Given the description of an element on the screen output the (x, y) to click on. 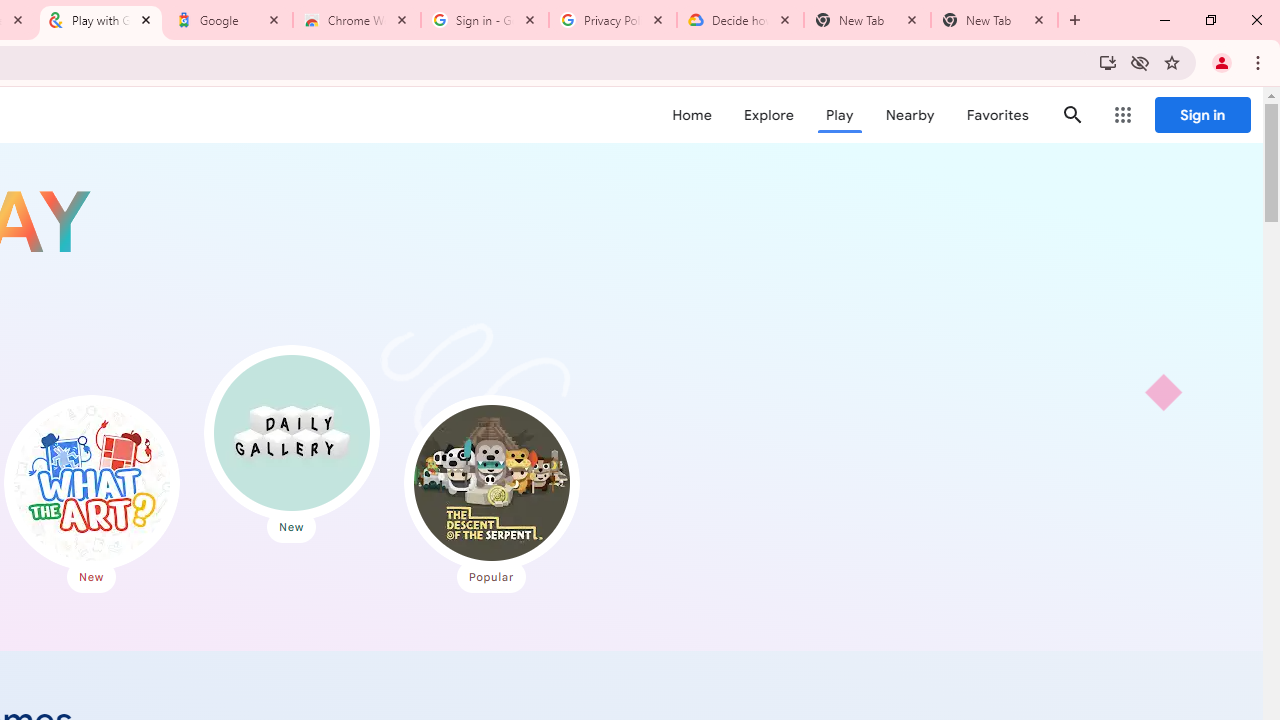
Nearby (910, 115)
Chrome Web Store - Color themes by Chrome (357, 20)
The Descent of the Serpent (491, 482)
What the Art? (91, 482)
Explore (768, 115)
New Tab (994, 20)
Home (691, 115)
Play (840, 115)
